Given the description of an element on the screen output the (x, y) to click on. 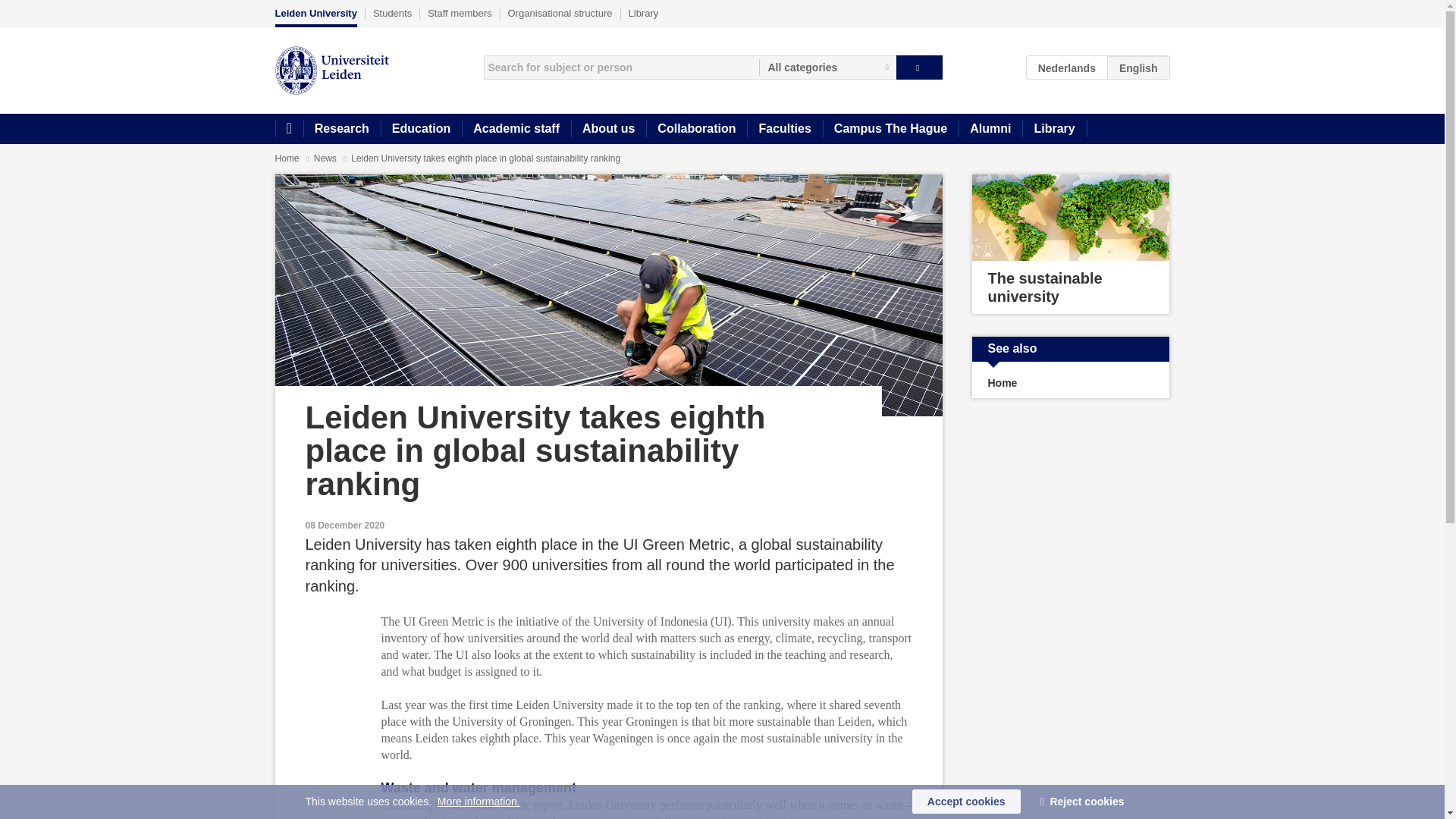
About us (608, 128)
Alumni (990, 128)
Leiden University (315, 17)
Research (341, 128)
Search (919, 67)
Students (392, 13)
Collaboration (696, 128)
Library (643, 13)
Library (1054, 128)
Academic staff (515, 128)
Home (288, 128)
Faculties (784, 128)
Education (420, 128)
NL (1067, 67)
News (326, 158)
